Given the description of an element on the screen output the (x, y) to click on. 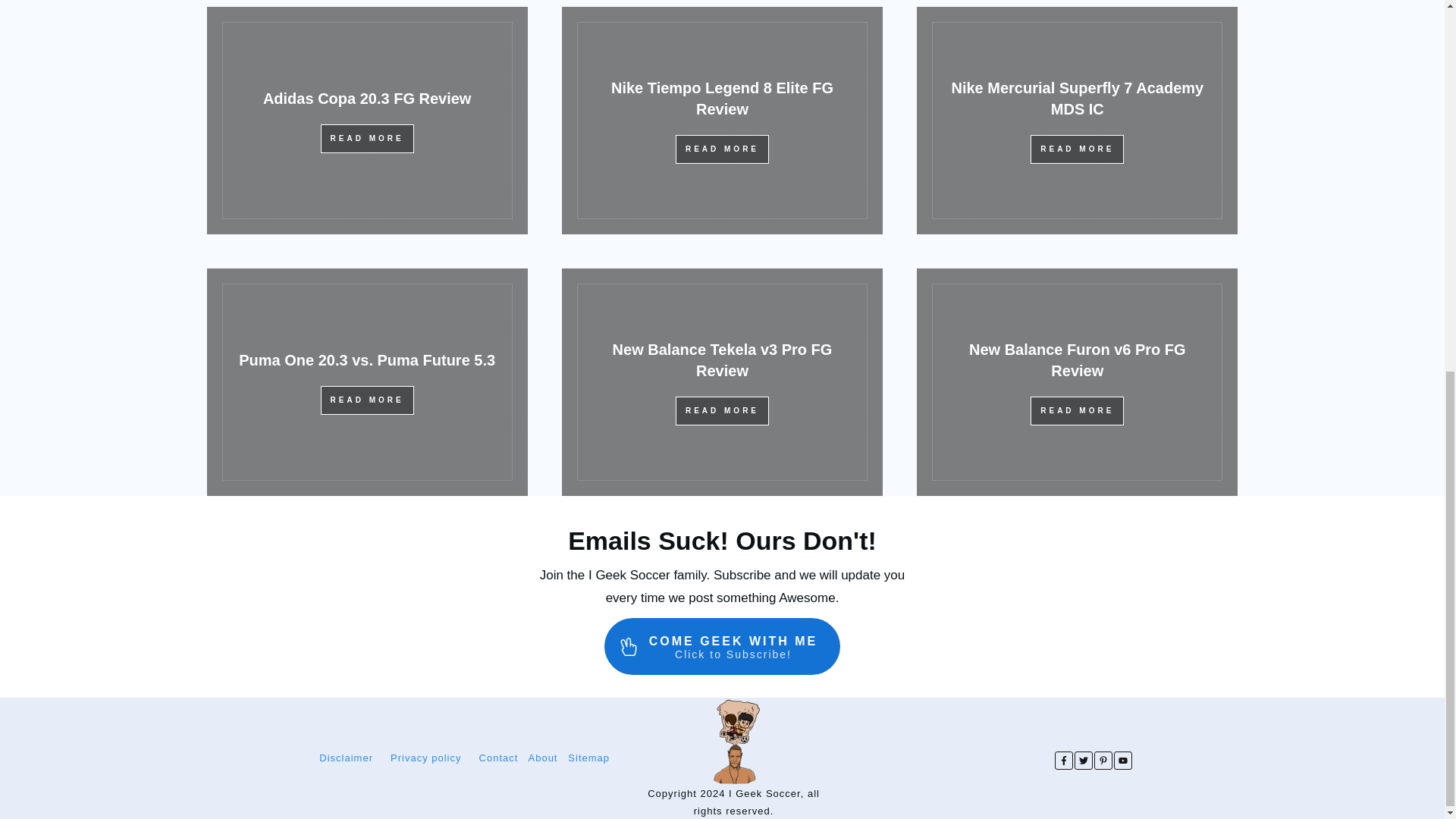
New Balance Furon v6 Pro FG Review (1077, 360)
Puma One 20.3 vs. Puma Future 5.3 (366, 360)
Nike Tiempo Legend 8 Elite FG Review (721, 98)
READ MORE (721, 149)
Privacy policy (425, 757)
READ MORE (721, 410)
About (542, 757)
New Balance Tekela v3 Pro FG Review (722, 360)
 Sitemap (722, 646)
